Given the description of an element on the screen output the (x, y) to click on. 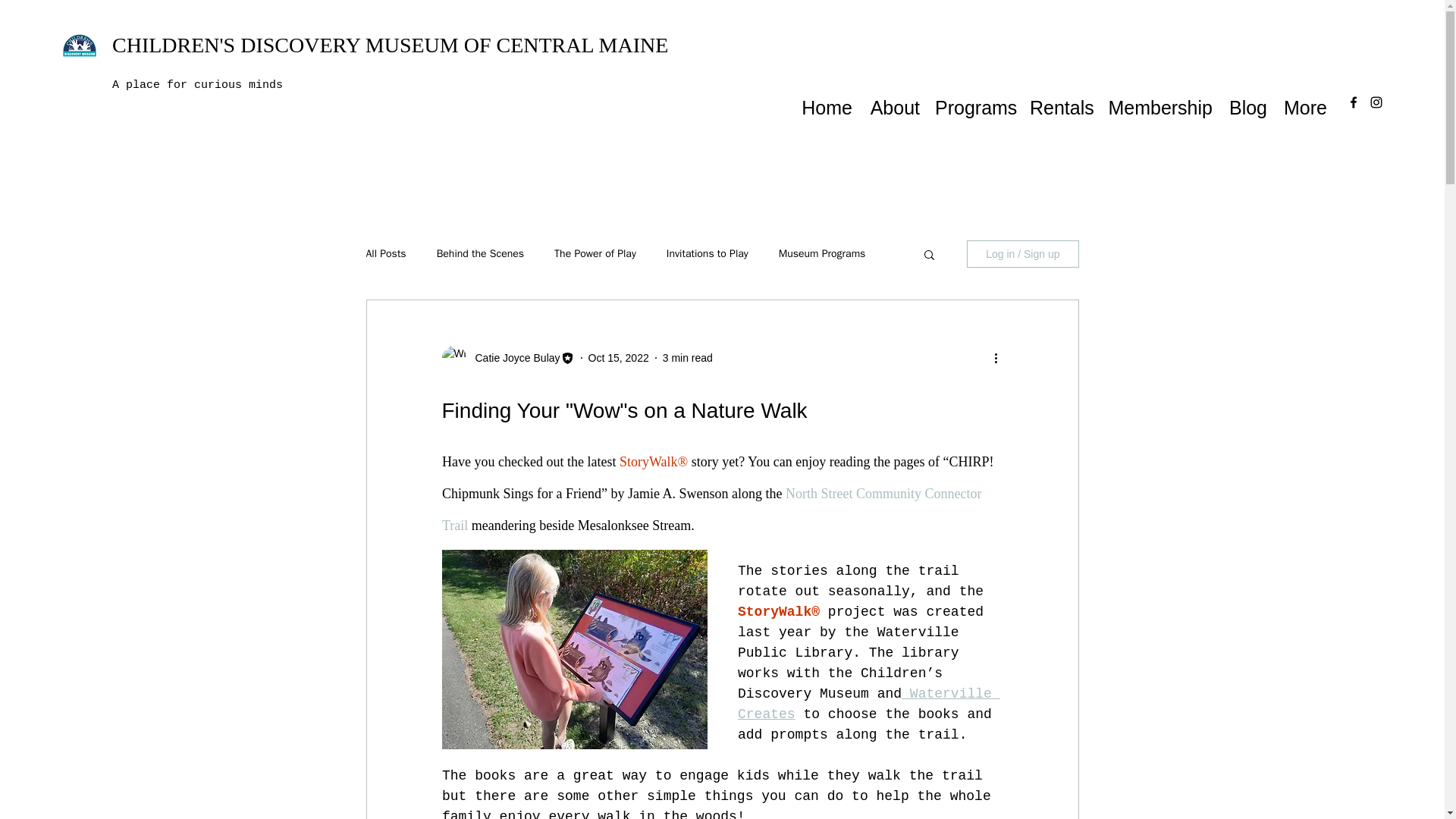
Blog (1247, 101)
Home (826, 101)
Oct 15, 2022 (618, 357)
Museum Programs (822, 254)
3 min read (687, 357)
Catie Joyce Bulay (512, 358)
Invitations to Play (707, 254)
Programs (974, 101)
 Waterville Creates (867, 703)
Behind the Scenes (480, 254)
All Posts (385, 254)
The Power of Play (595, 254)
Rentals (1060, 101)
CHILDREN'S DISCOVERY MUSEUM OF CENTRAL MAINE (390, 44)
Membership (1159, 101)
